Given the description of an element on the screen output the (x, y) to click on. 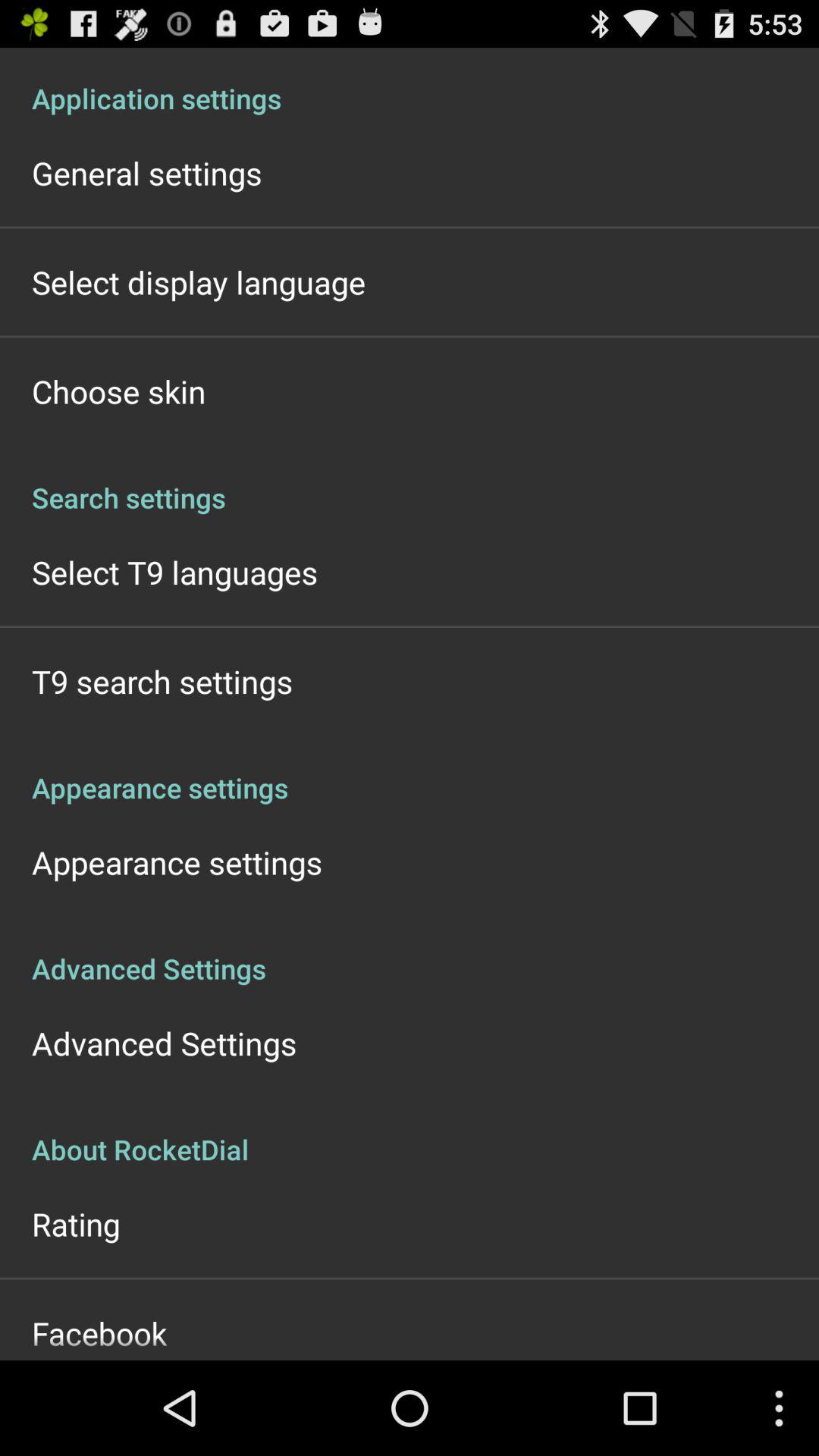
choose item below the search settings icon (174, 571)
